Given the description of an element on the screen output the (x, y) to click on. 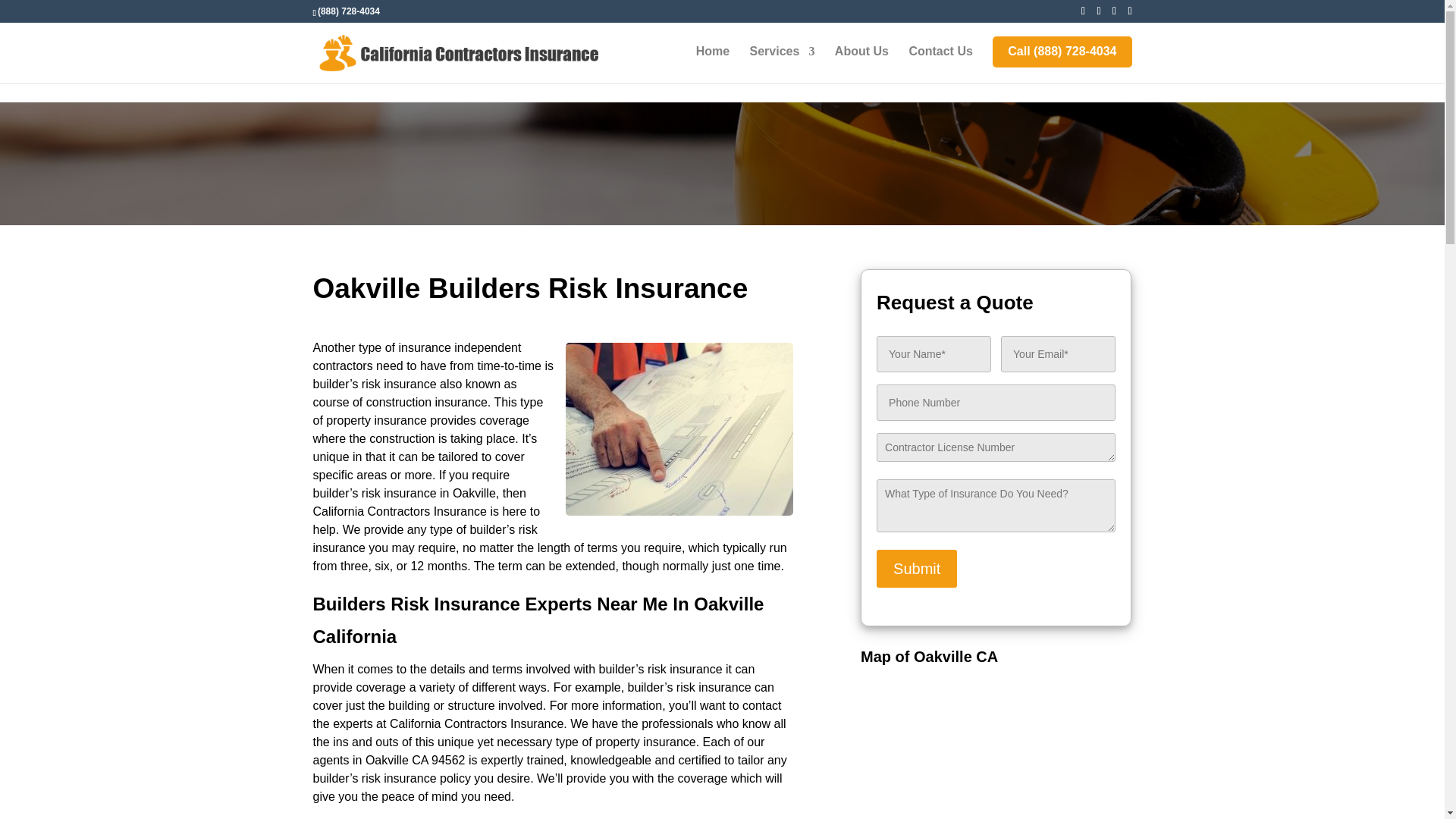
Home (712, 64)
Submit (916, 568)
Services (782, 64)
About Us (861, 64)
Contact Us (940, 64)
